Given the description of an element on the screen output the (x, y) to click on. 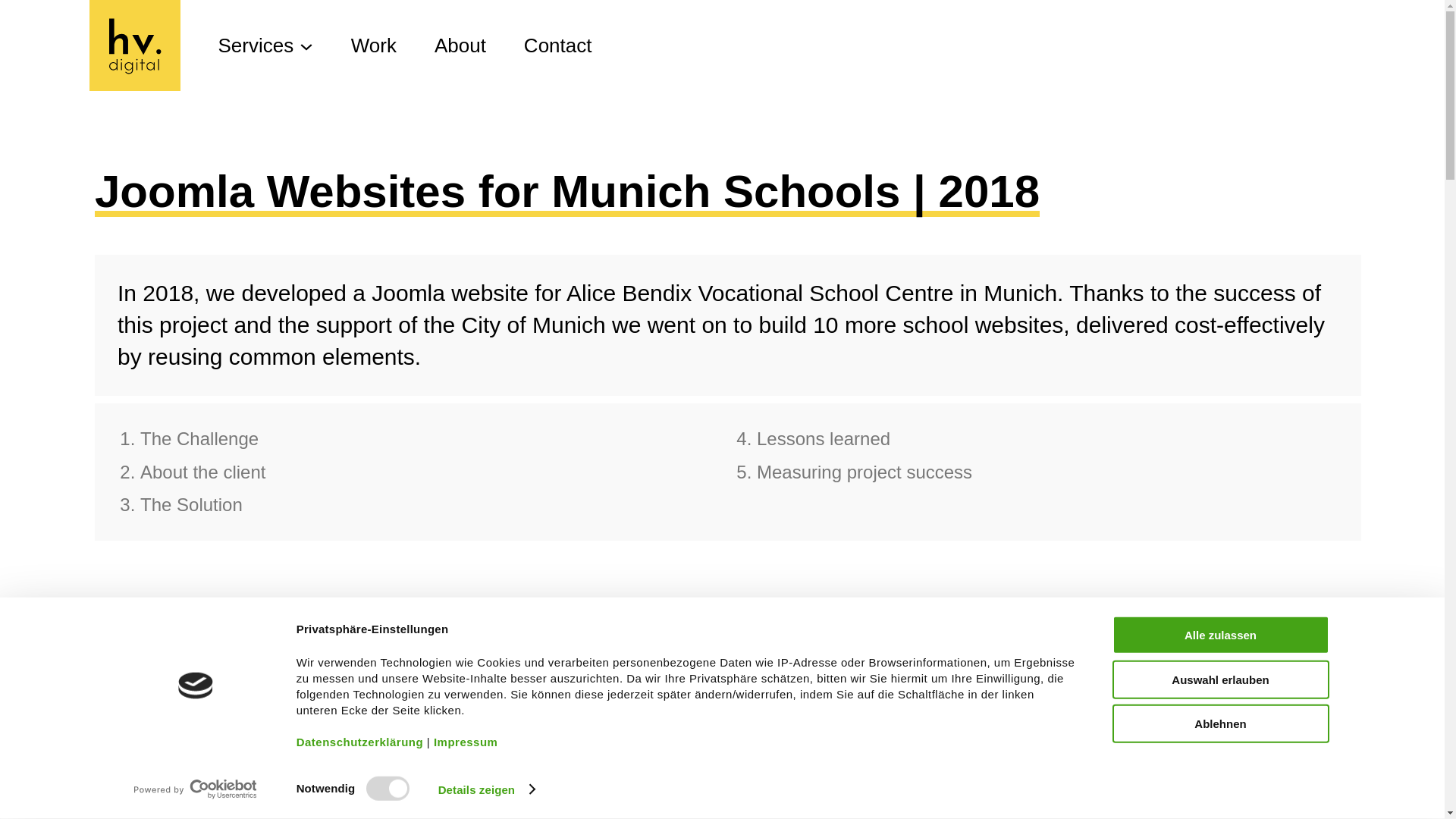
Ablehnen (1219, 723)
Details zeigen (486, 789)
Impressum (465, 740)
Alle zulassen (1219, 634)
Auswahl erlauben (1219, 679)
Services (237, 45)
